Given the description of an element on the screen output the (x, y) to click on. 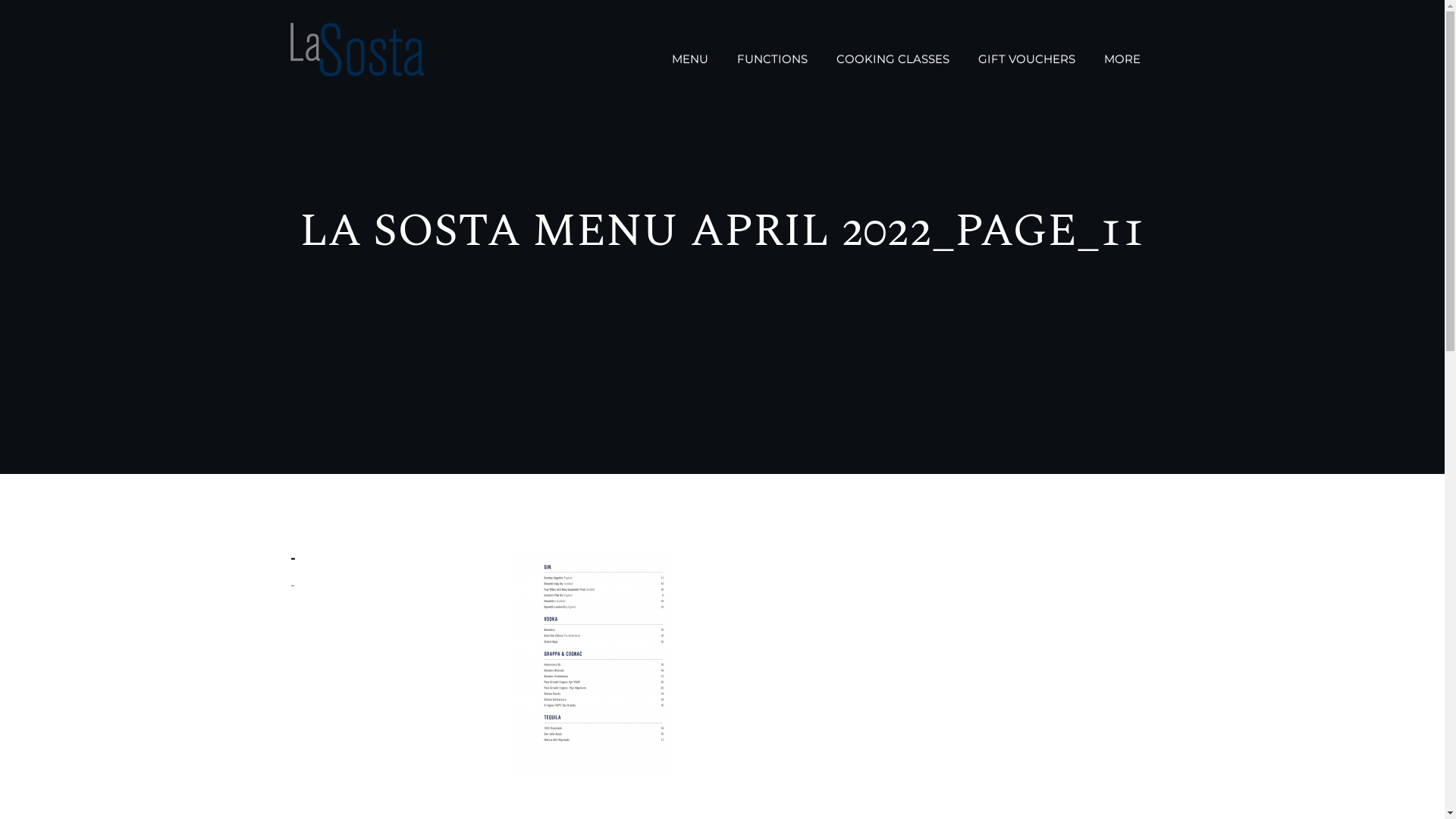
COOKING CLASSES Element type: text (892, 58)
MORE Element type: text (1121, 58)
GIFT VOUCHERS Element type: text (1025, 58)
MENU Element type: text (688, 58)
FUNCTIONS Element type: text (771, 58)
